Given the description of an element on the screen output the (x, y) to click on. 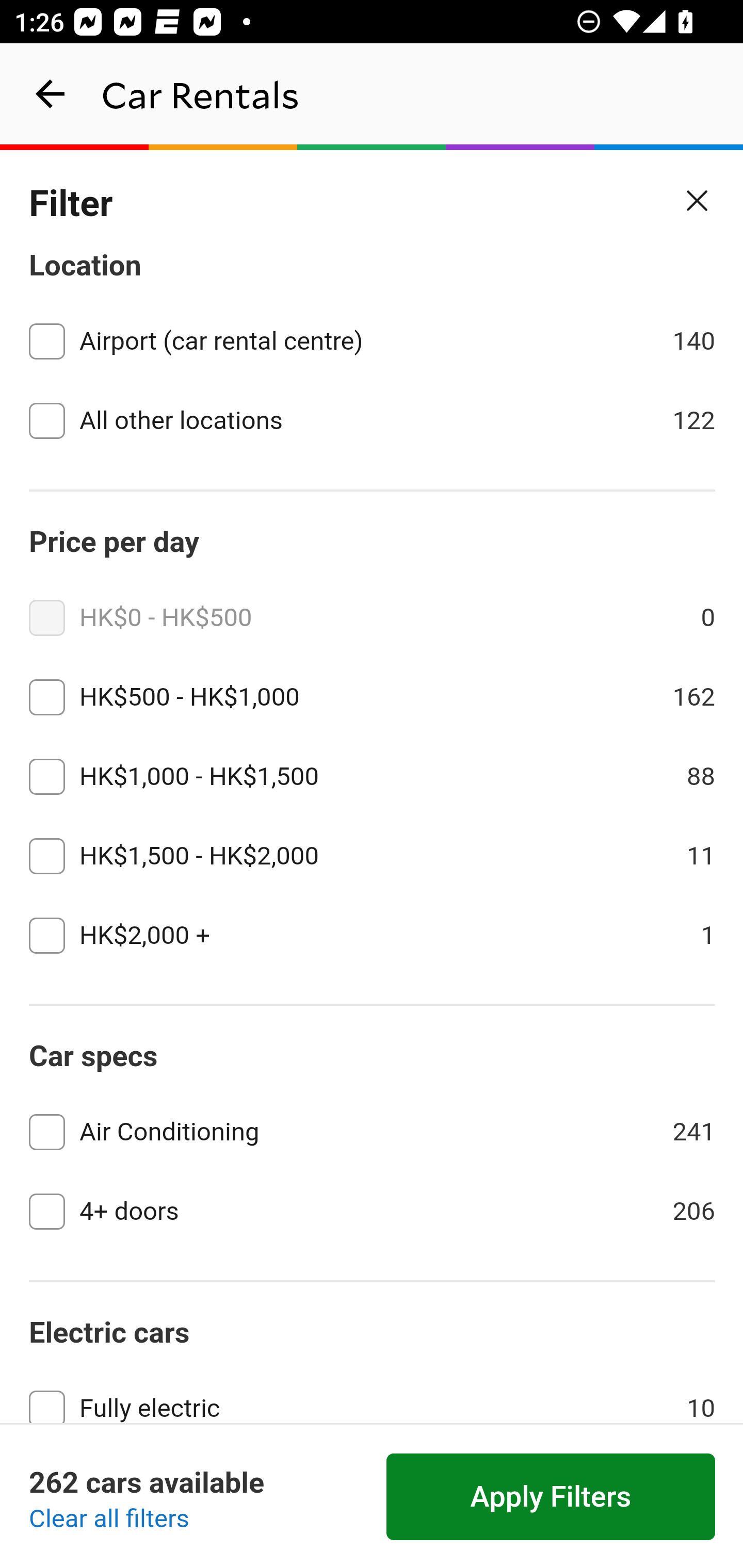
navigation_button (50, 93)
Close (697, 201)
Apply Filters (551, 1497)
Clear all filters (108, 1519)
